Given the description of an element on the screen output the (x, y) to click on. 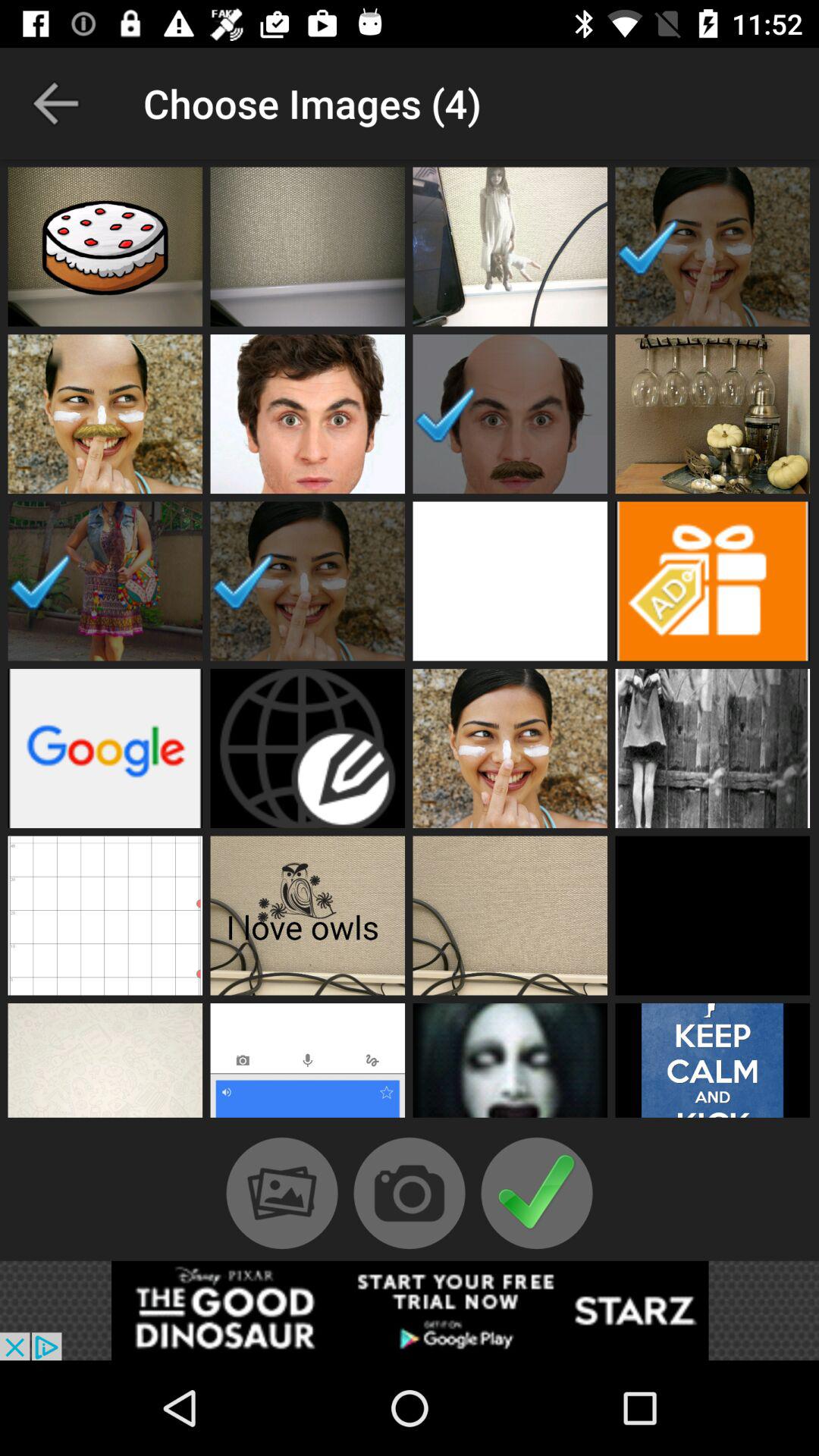
open profile (509, 915)
